Given the description of an element on the screen output the (x, y) to click on. 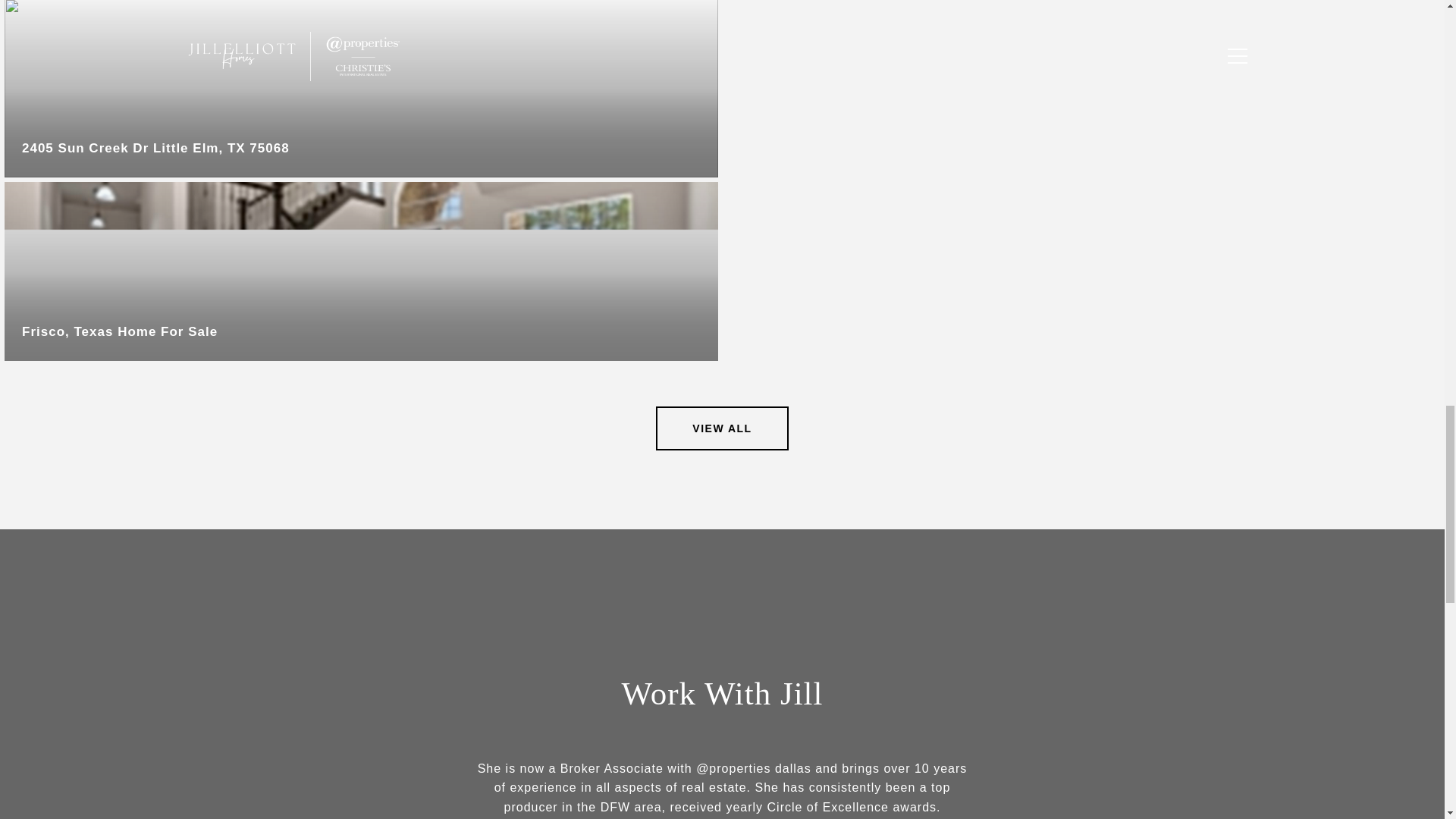
VIEW ALL (721, 428)
2405 Sun Creek Dr Little Elm, TX 75068 (360, 88)
Frisco, Texas Home For Sale (360, 271)
